Given the description of an element on the screen output the (x, y) to click on. 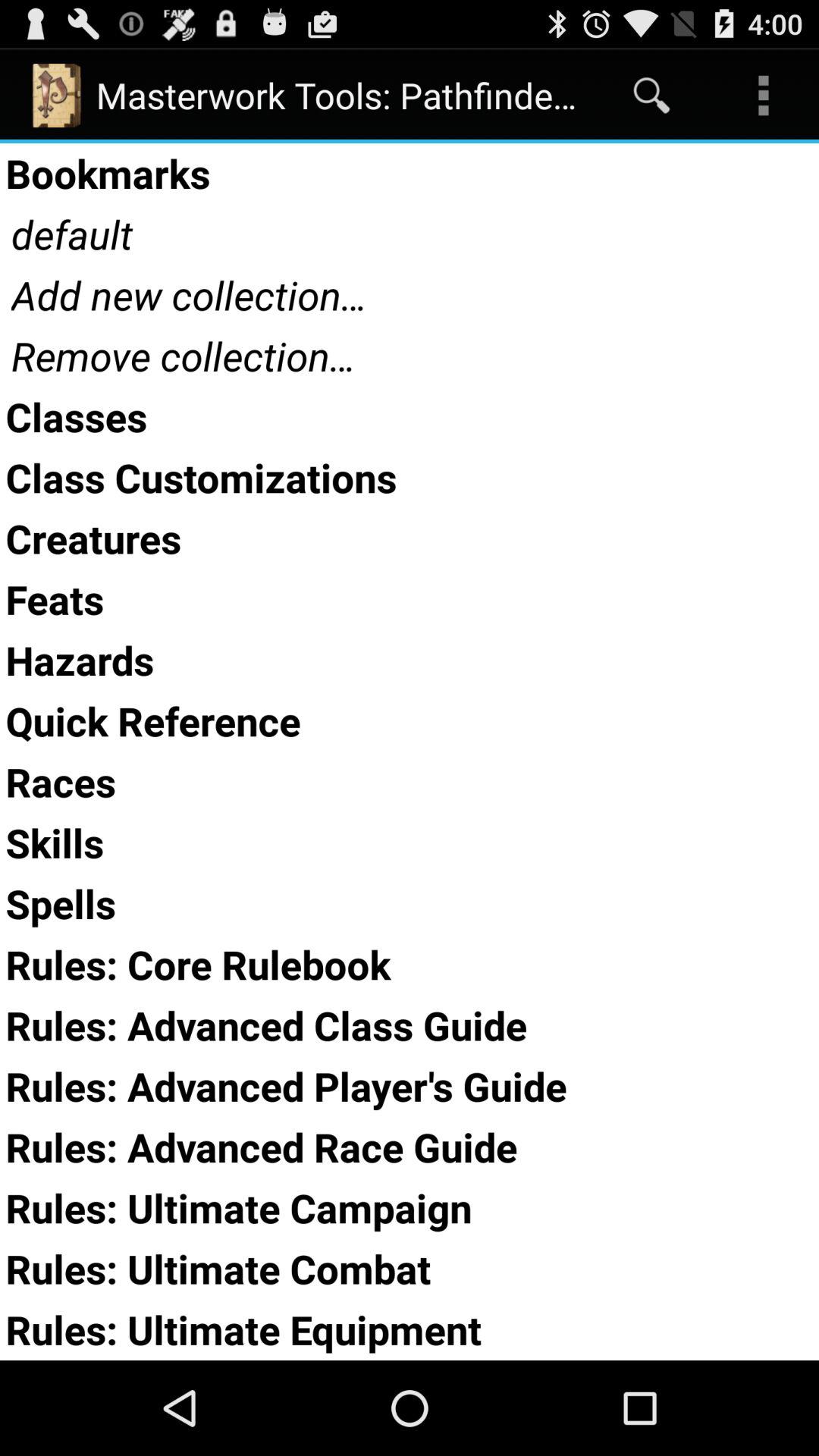
turn on the icon to the right of masterwork tools pathfinder app (651, 95)
